Given the description of an element on the screen output the (x, y) to click on. 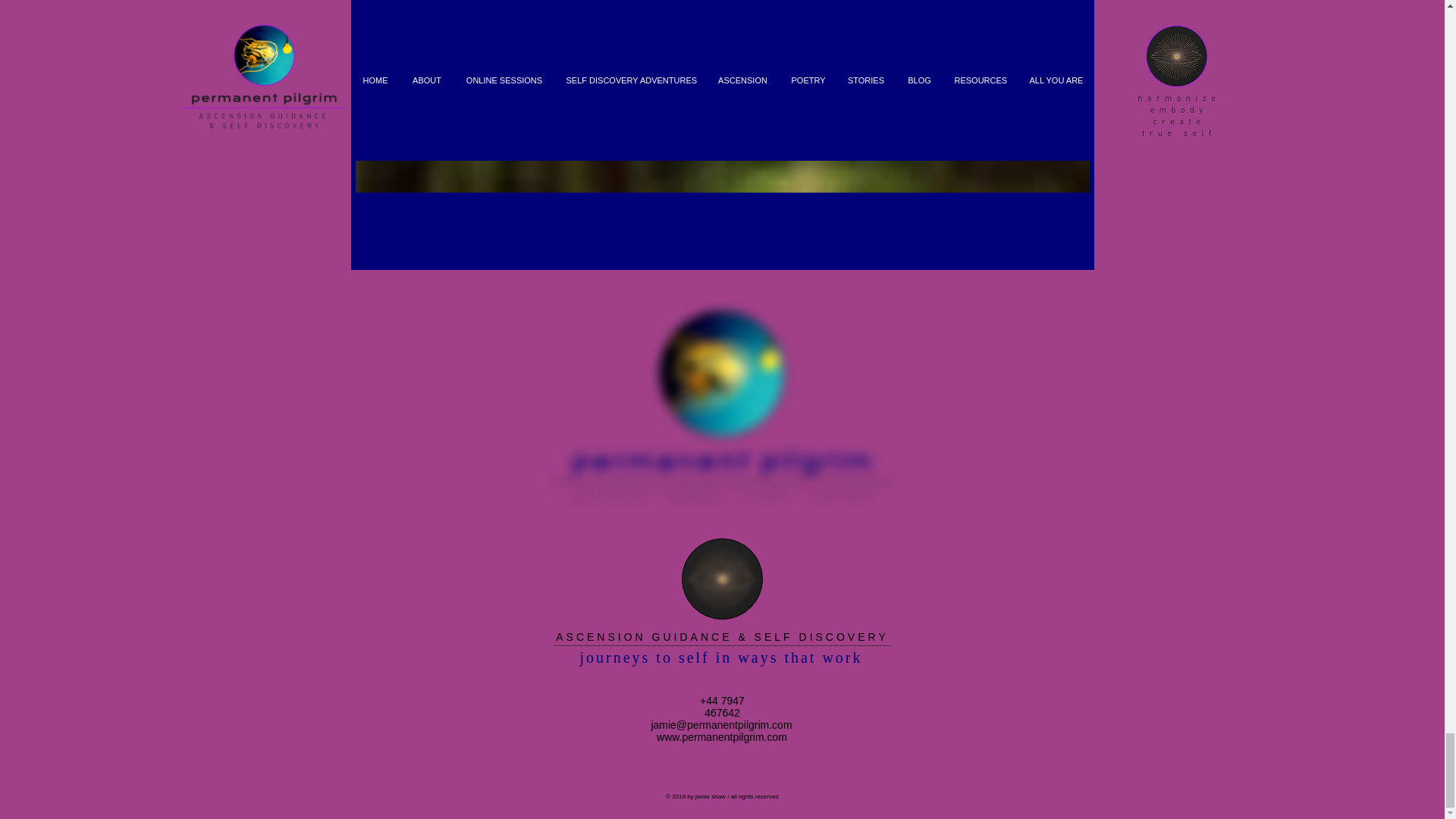
Logo8.png (720, 399)
New Earth Eternity Training (721, 578)
